Given the description of an element on the screen output the (x, y) to click on. 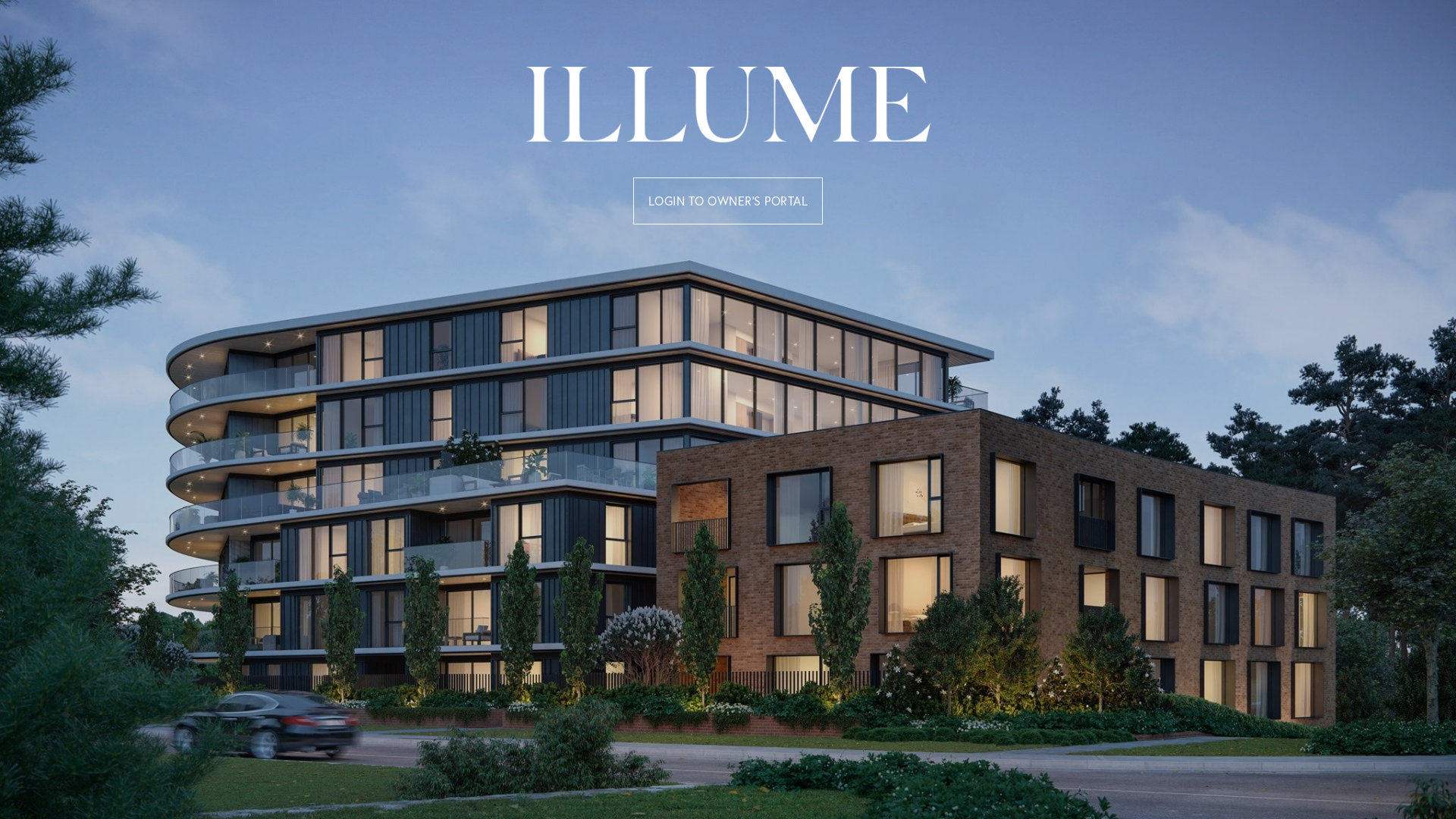
LOGIN TO OWNER'S PORTAL Element type: text (727, 200)
